Given the description of an element on the screen output the (x, y) to click on. 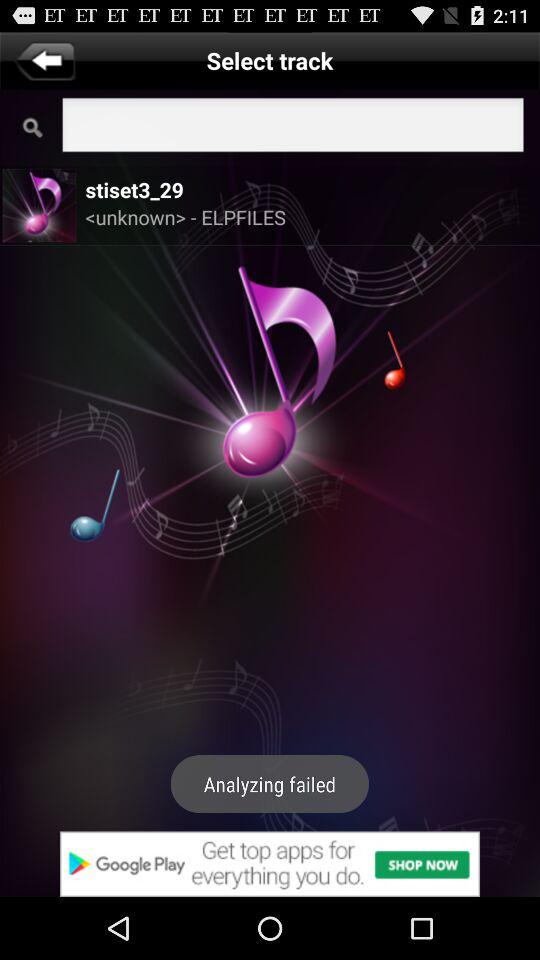
google play advert (270, 864)
